Given the description of an element on the screen output the (x, y) to click on. 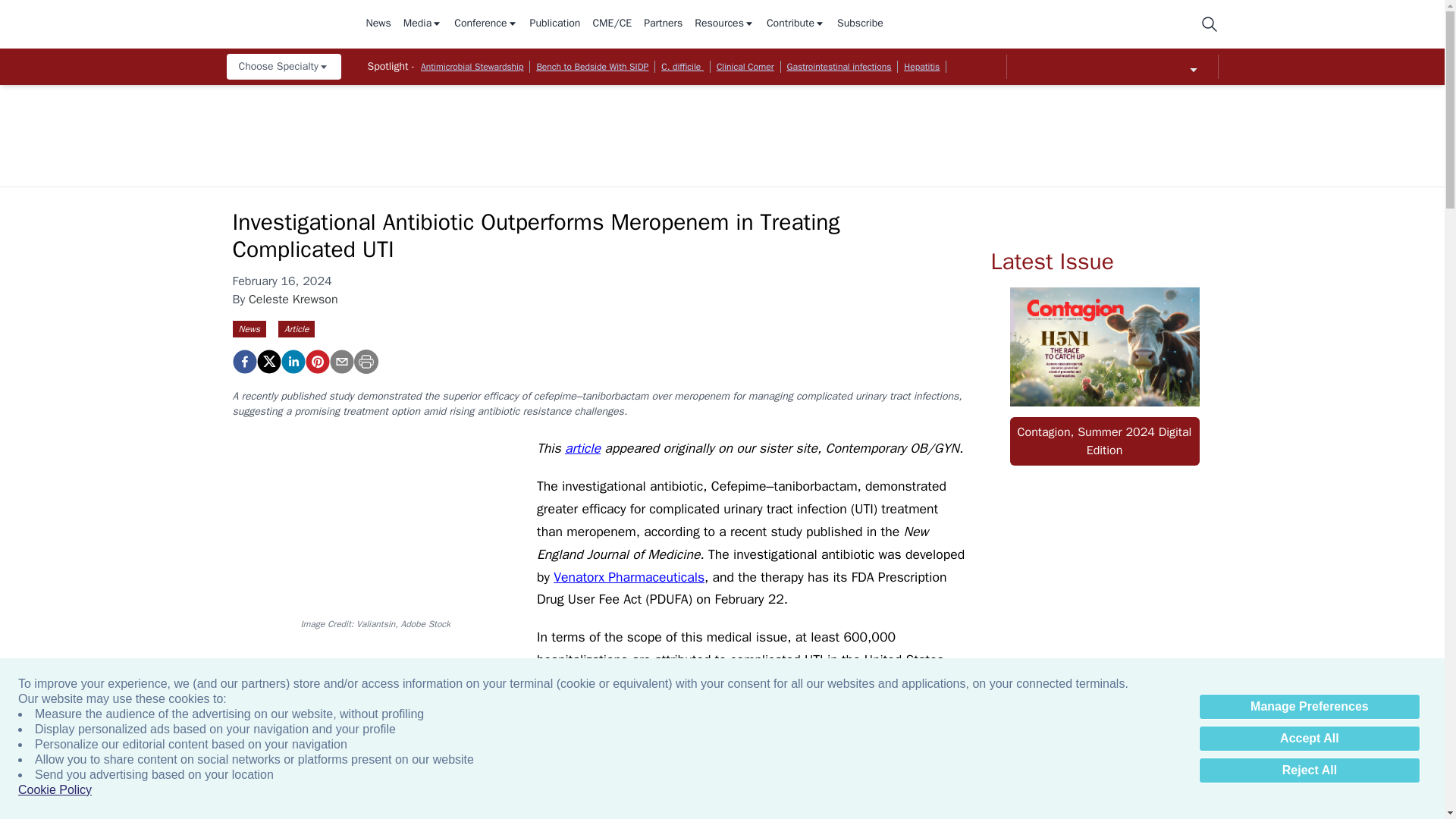
Reject All (1309, 769)
Cookie Policy (54, 789)
Publication (554, 23)
Contribute (796, 23)
News (377, 23)
Image Credit: Valiantsin, Adobe Stock  (374, 523)
Resources (724, 23)
Conference (485, 23)
Partners (662, 23)
Manage Preferences (1309, 706)
Subscribe (860, 23)
Choose Specialty (282, 66)
Accept All (1309, 738)
